Given the description of an element on the screen output the (x, y) to click on. 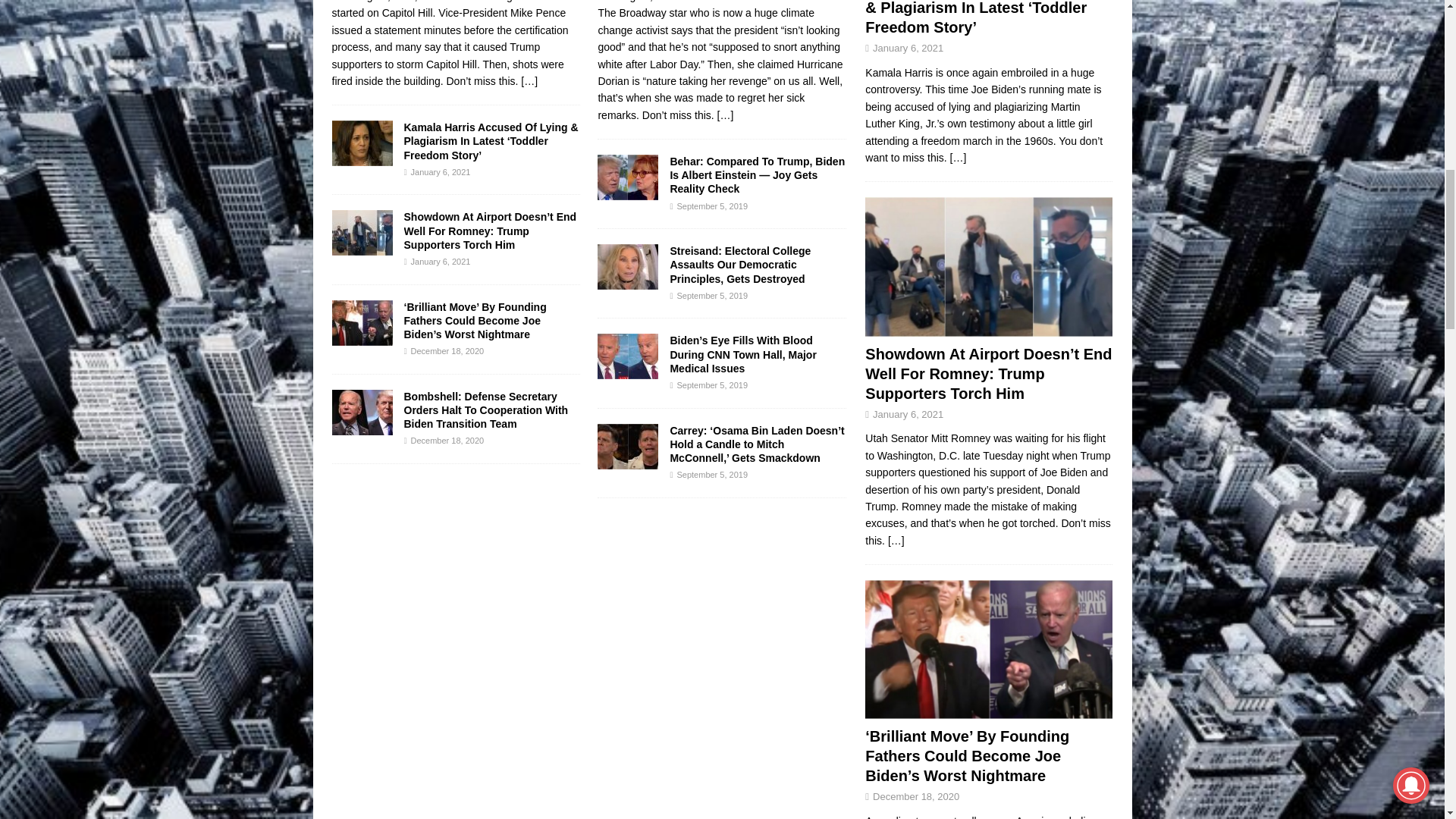
January 6, 2021 (440, 171)
